Given the description of an element on the screen output the (x, y) to click on. 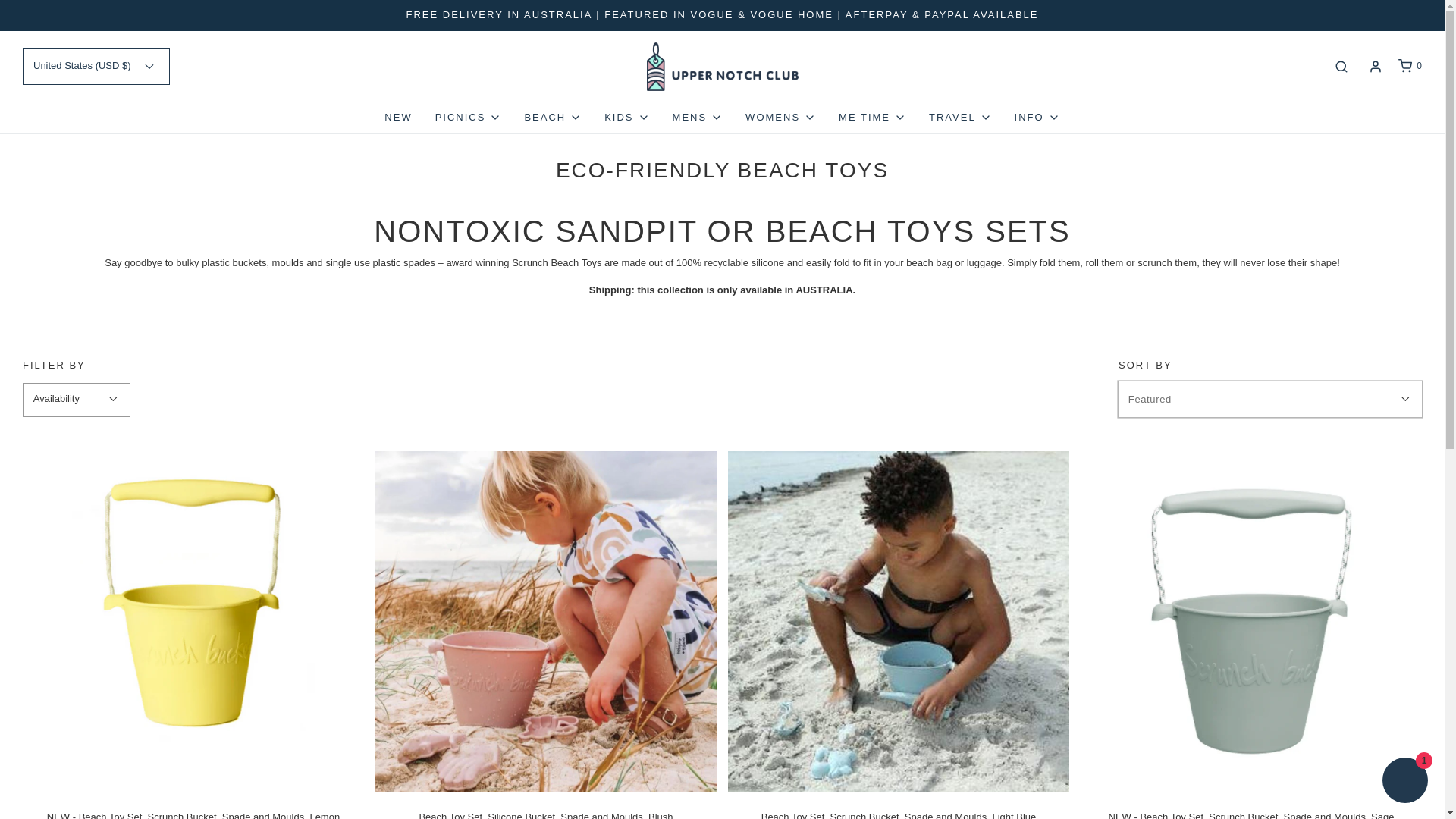
Beach Toy Set, Silicone Bucket, Spade and Moulds, Blush (545, 621)
Cart (1409, 65)
NEW - Beach Toy Set, Scrunch Bucket, Spade and Moulds, Lemon (193, 621)
NEW - Beach Toy Set, Scrunch Bucket, Spade and Moulds, Sage (1251, 621)
Search (1341, 66)
Beach Toy Set, Scrunch Bucket, Spade and Moulds, Light Blue (898, 621)
Log in (1375, 66)
Shopify online store chat (1404, 781)
